Given the description of an element on the screen output the (x, y) to click on. 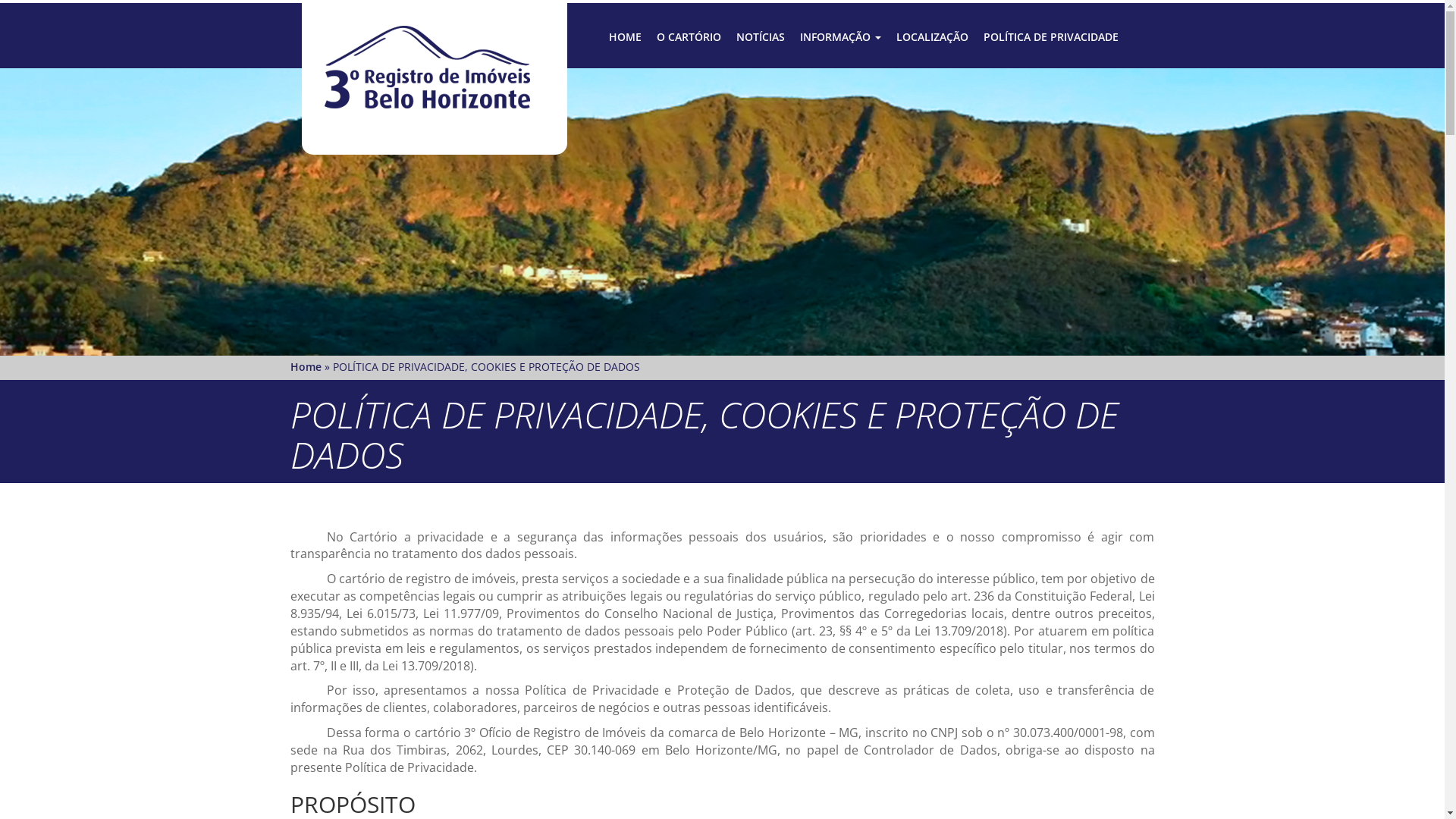
Home Element type: text (304, 366)
HOME Element type: text (624, 37)
